Given the description of an element on the screen output the (x, y) to click on. 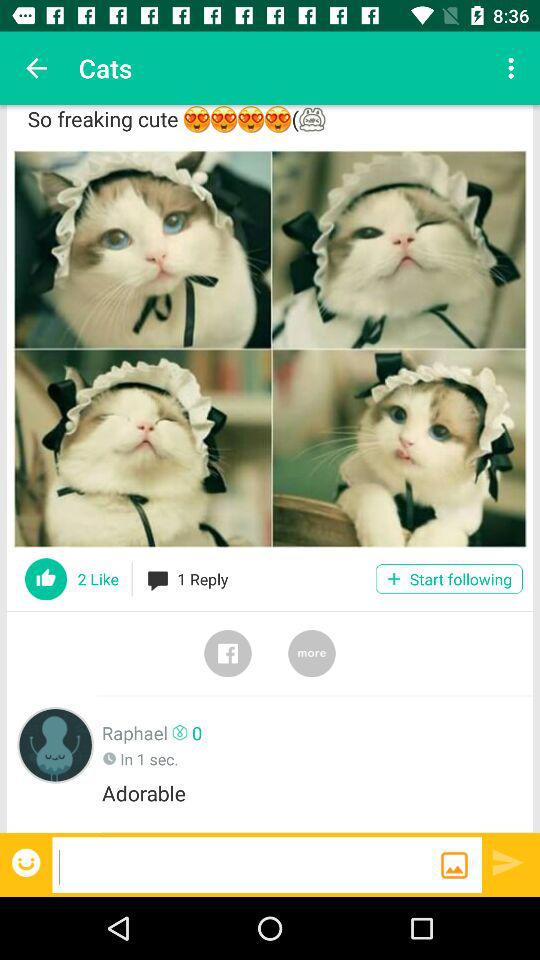
choose item above so freaking cute (36, 68)
